Given the description of an element on the screen output the (x, y) to click on. 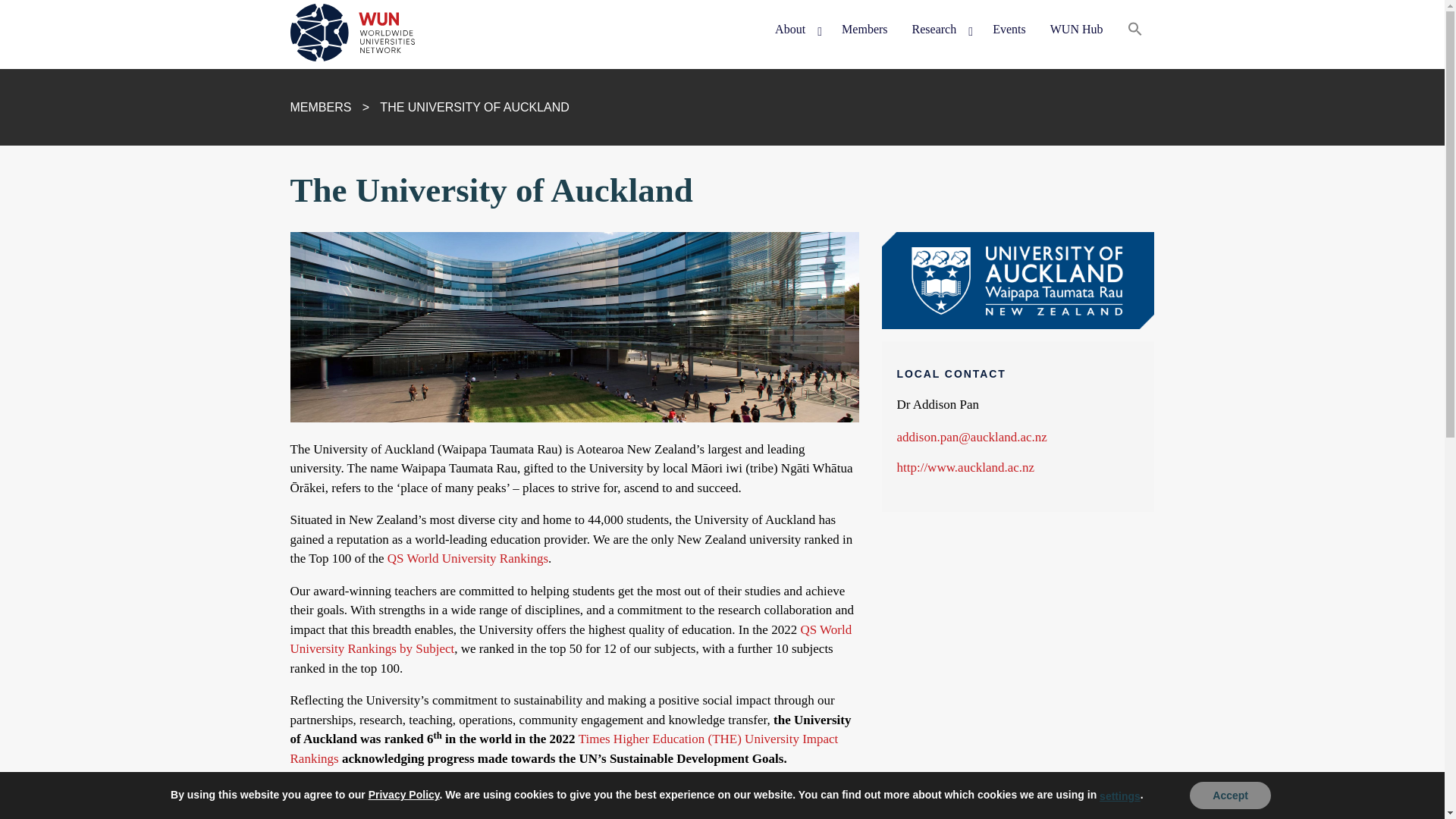
WUN (318, 83)
WUN Hub (1076, 29)
Research (940, 29)
Events (1008, 29)
About (795, 29)
Members (864, 29)
